Given the description of an element on the screen output the (x, y) to click on. 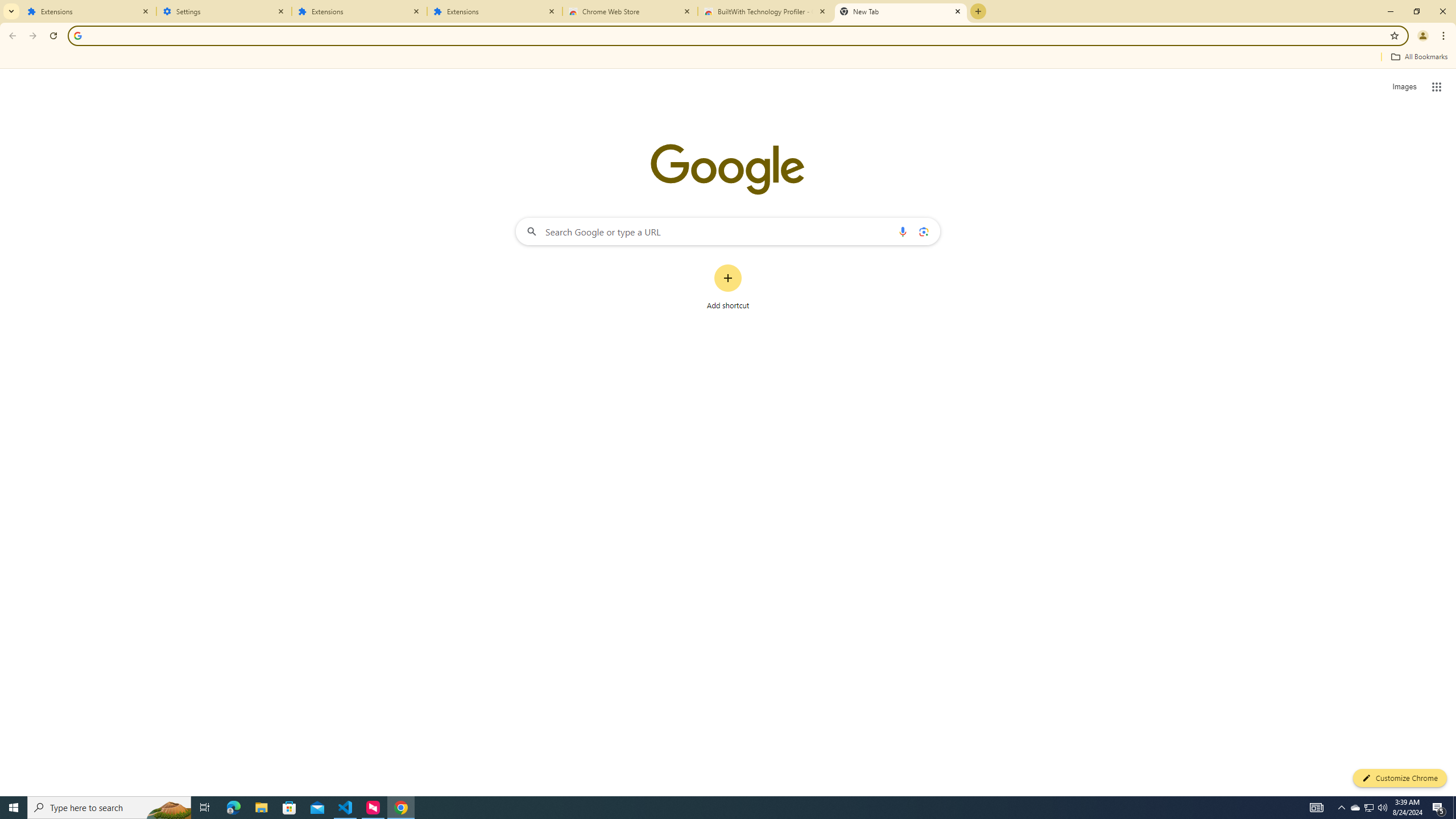
BuiltWith Technology Profiler - Chrome Web Store (765, 11)
Search Google or type a URL (727, 230)
New Tab (901, 11)
Extensions (359, 11)
Bookmarks (728, 58)
Extensions (88, 11)
